Given the description of an element on the screen output the (x, y) to click on. 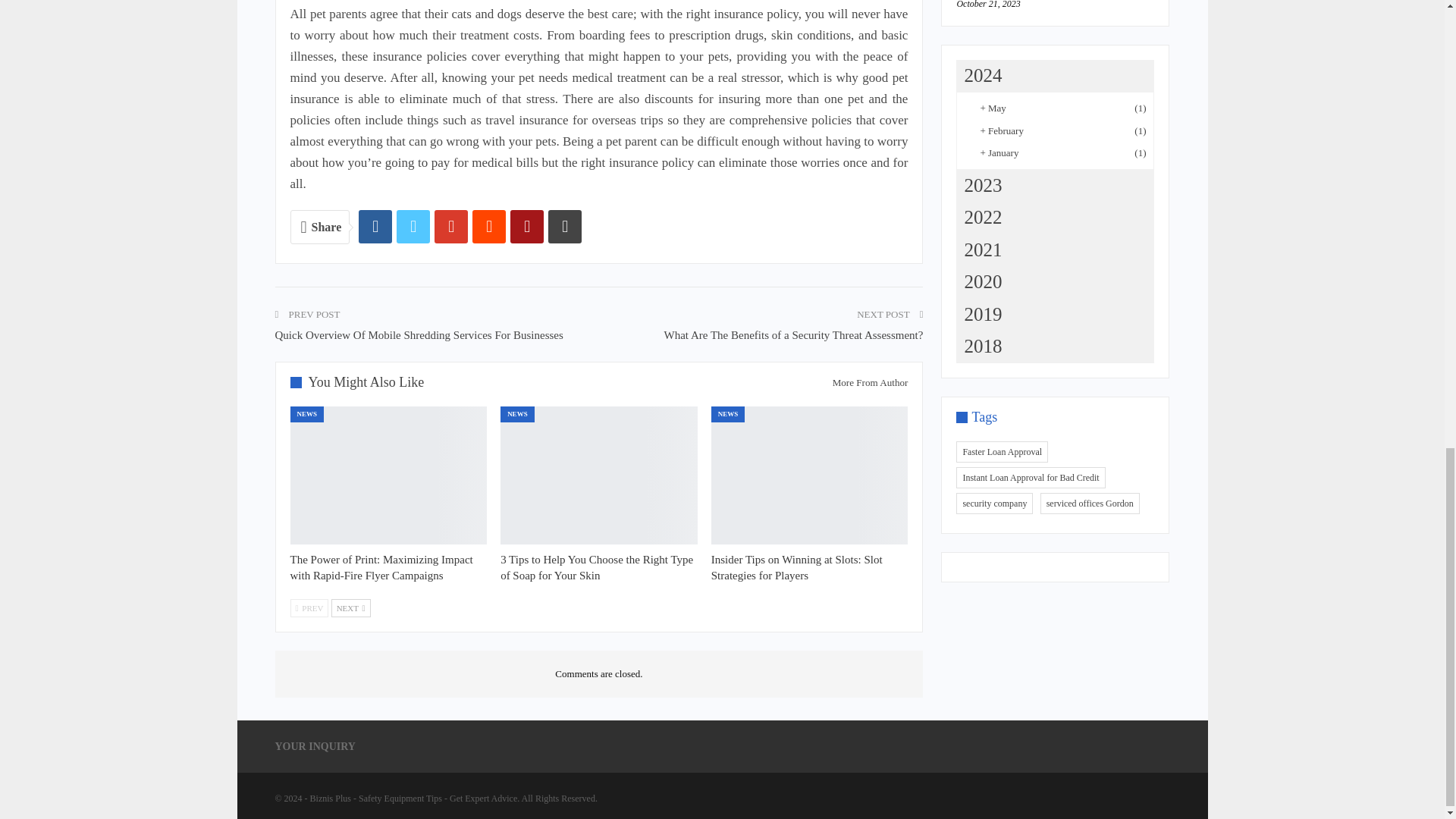
Previous (309, 607)
Next (351, 607)
